Given the description of an element on the screen output the (x, y) to click on. 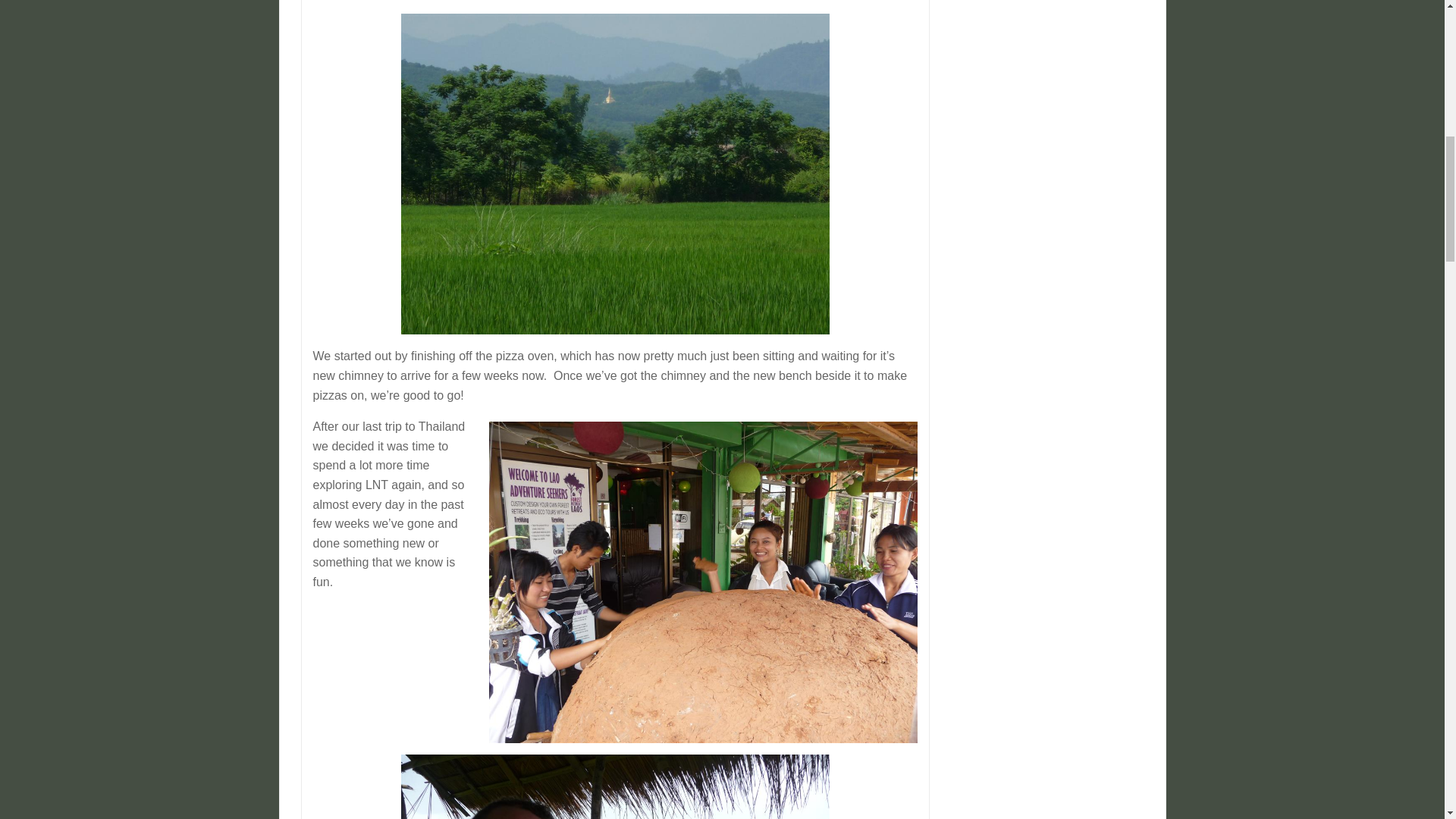
Dre hanging out in the rice (615, 786)
